Given the description of an element on the screen output the (x, y) to click on. 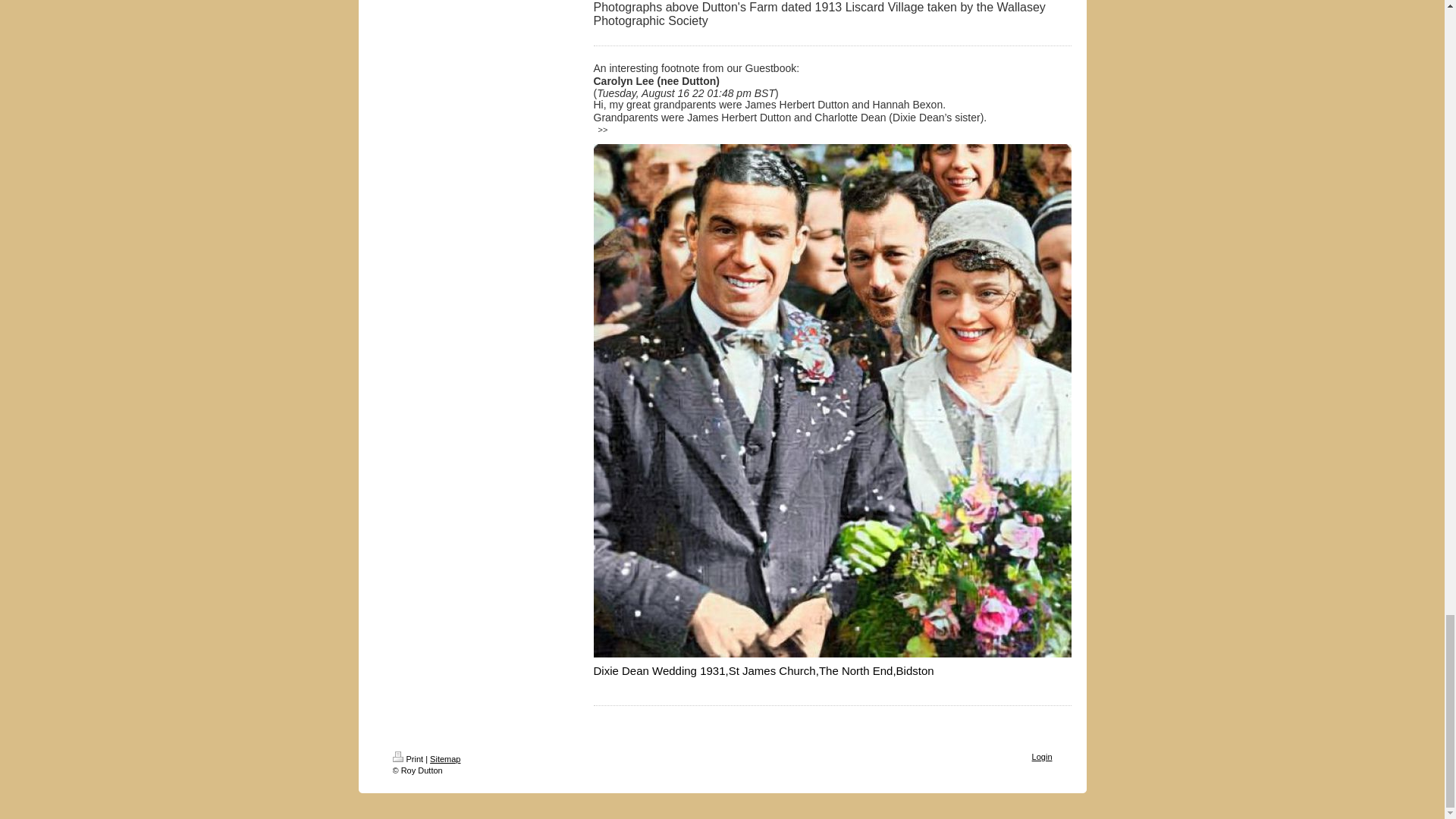
Sitemap (444, 758)
Login (1042, 756)
Print (408, 758)
